Given the description of an element on the screen output the (x, y) to click on. 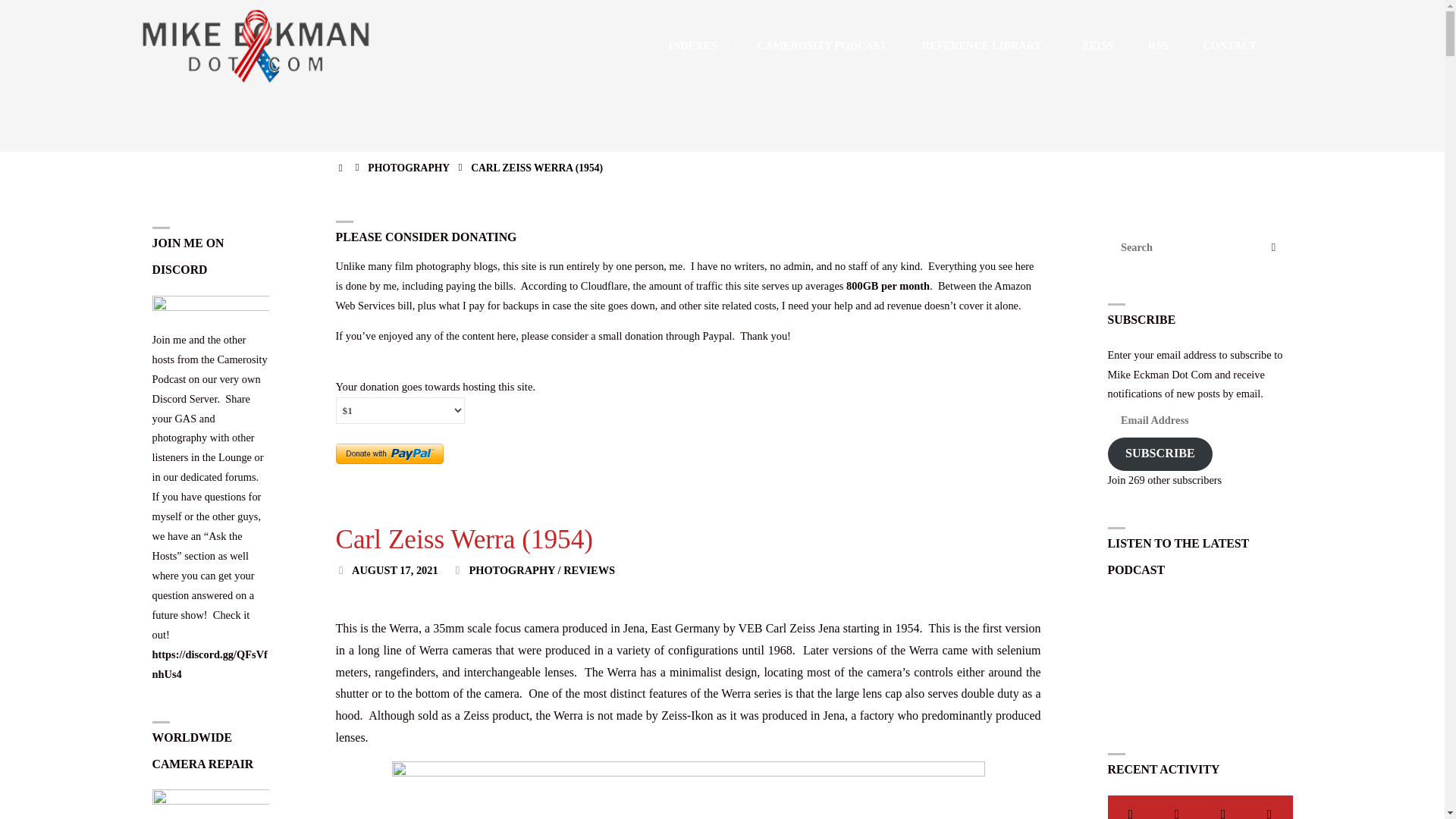
CONTACT (1229, 45)
REFERENCE LIBRARY (984, 45)
CAMEROSITY PODCAST (821, 45)
Home (341, 167)
PHOTOGRAPHY (408, 167)
INDEXES (694, 45)
mike eckman dot com (255, 44)
HOME (341, 167)
